Given the description of an element on the screen output the (x, y) to click on. 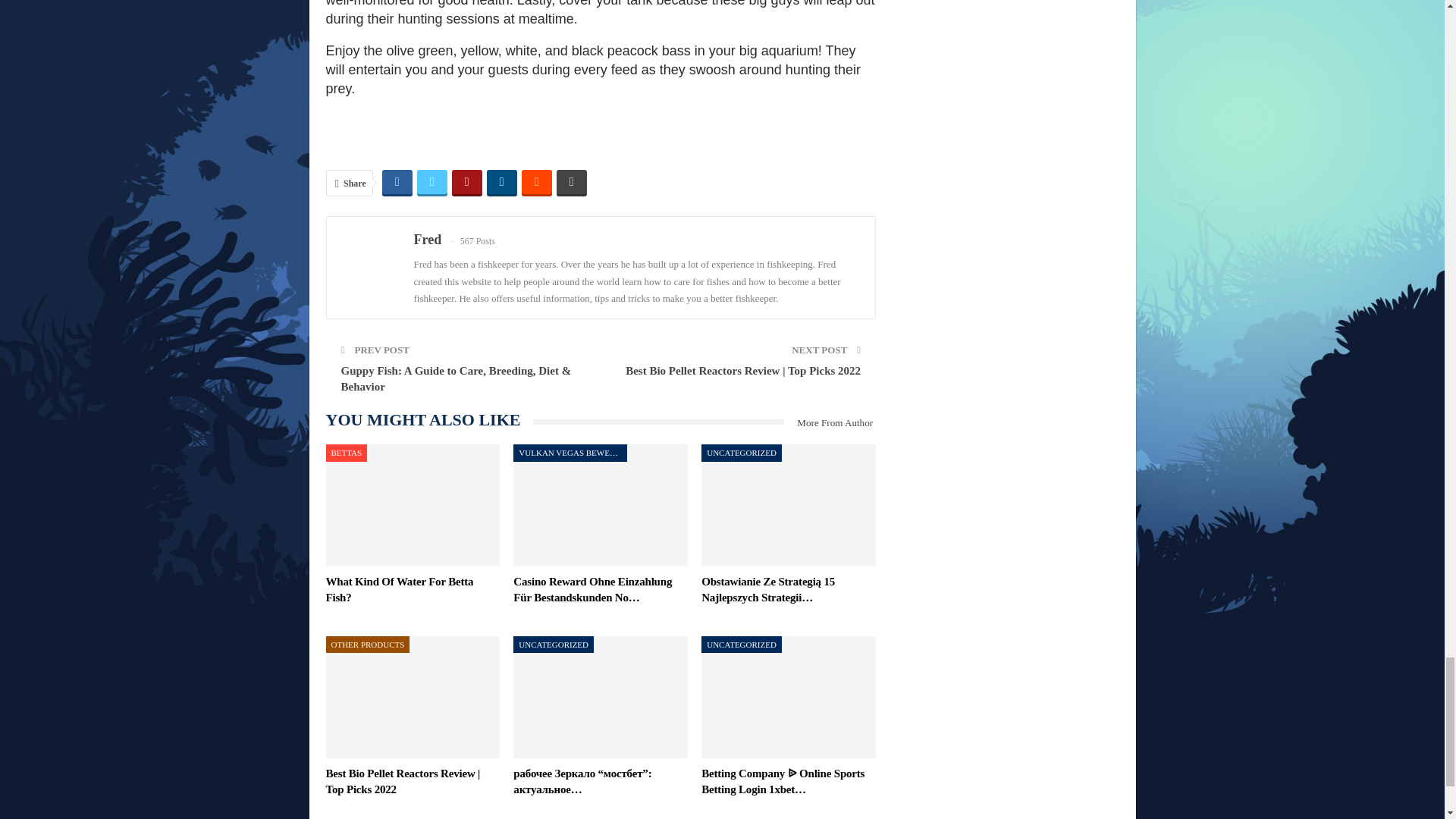
What Kind Of Water For Betta Fish? (400, 589)
What Kind Of Water For Betta Fish? (413, 505)
